Given the description of an element on the screen output the (x, y) to click on. 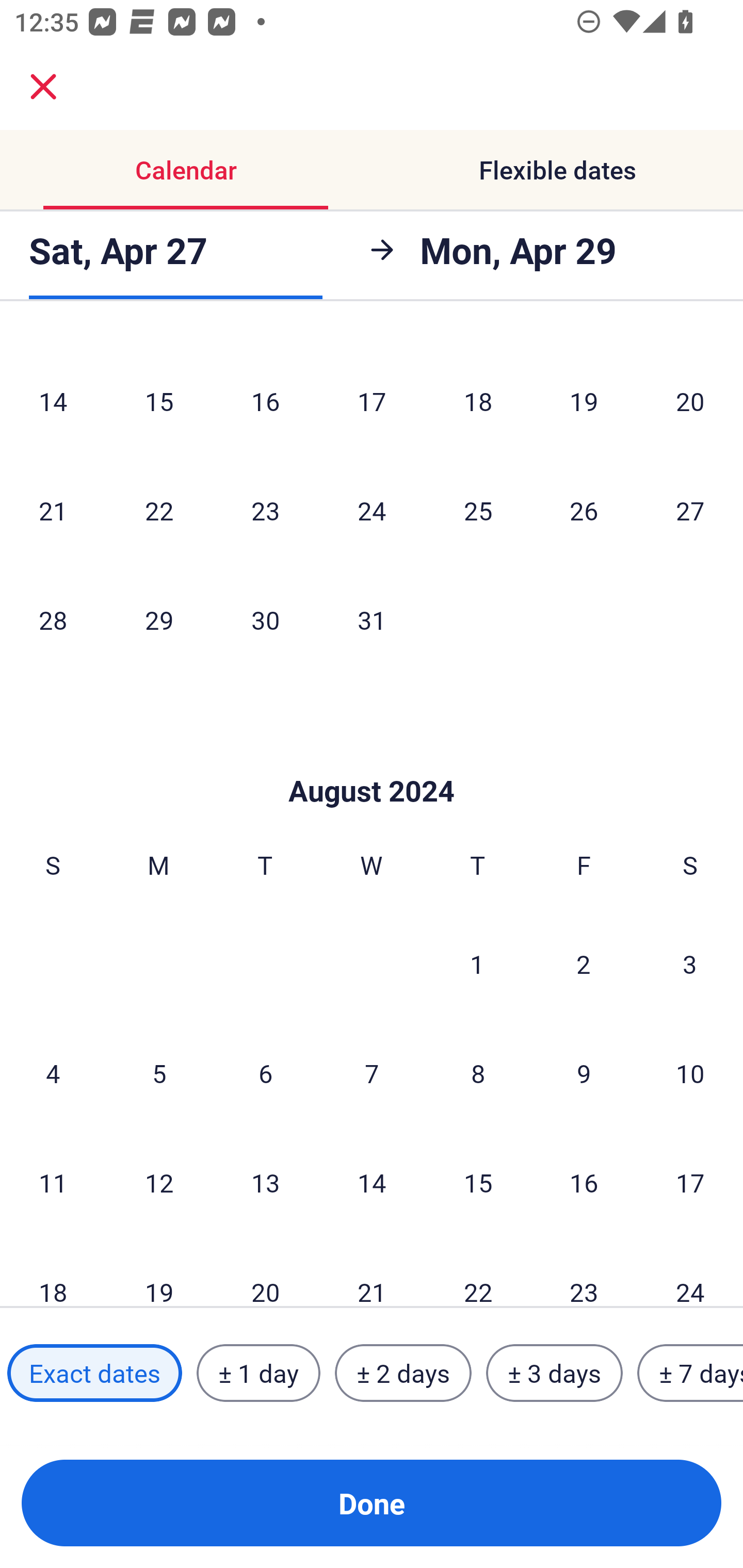
close. (43, 86)
Flexible dates (557, 170)
14 Sunday, July 14, 2024 (53, 400)
15 Monday, July 15, 2024 (159, 400)
16 Tuesday, July 16, 2024 (265, 400)
17 Wednesday, July 17, 2024 (371, 400)
18 Thursday, July 18, 2024 (477, 400)
19 Friday, July 19, 2024 (584, 400)
20 Saturday, July 20, 2024 (690, 400)
21 Sunday, July 21, 2024 (53, 509)
22 Monday, July 22, 2024 (159, 509)
23 Tuesday, July 23, 2024 (265, 509)
24 Wednesday, July 24, 2024 (371, 509)
25 Thursday, July 25, 2024 (477, 509)
26 Friday, July 26, 2024 (584, 509)
27 Saturday, July 27, 2024 (690, 509)
28 Sunday, July 28, 2024 (53, 619)
29 Monday, July 29, 2024 (159, 619)
30 Tuesday, July 30, 2024 (265, 619)
31 Wednesday, July 31, 2024 (371, 619)
Skip to Done (371, 759)
1 Thursday, August 1, 2024 (477, 963)
2 Friday, August 2, 2024 (583, 963)
3 Saturday, August 3, 2024 (689, 963)
4 Sunday, August 4, 2024 (53, 1072)
5 Monday, August 5, 2024 (159, 1072)
6 Tuesday, August 6, 2024 (265, 1072)
7 Wednesday, August 7, 2024 (371, 1072)
8 Thursday, August 8, 2024 (477, 1072)
9 Friday, August 9, 2024 (584, 1072)
10 Saturday, August 10, 2024 (690, 1072)
11 Sunday, August 11, 2024 (53, 1181)
12 Monday, August 12, 2024 (159, 1181)
13 Tuesday, August 13, 2024 (265, 1181)
14 Wednesday, August 14, 2024 (371, 1181)
15 Thursday, August 15, 2024 (477, 1181)
16 Friday, August 16, 2024 (584, 1181)
17 Saturday, August 17, 2024 (690, 1181)
18 Sunday, August 18, 2024 (53, 1272)
19 Monday, August 19, 2024 (159, 1272)
20 Tuesday, August 20, 2024 (265, 1272)
21 Wednesday, August 21, 2024 (371, 1272)
22 Thursday, August 22, 2024 (477, 1272)
23 Friday, August 23, 2024 (584, 1272)
24 Saturday, August 24, 2024 (690, 1272)
Exact dates (94, 1372)
± 1 day (258, 1372)
± 2 days (403, 1372)
± 3 days (553, 1372)
± 7 days (690, 1372)
